Given the description of an element on the screen output the (x, y) to click on. 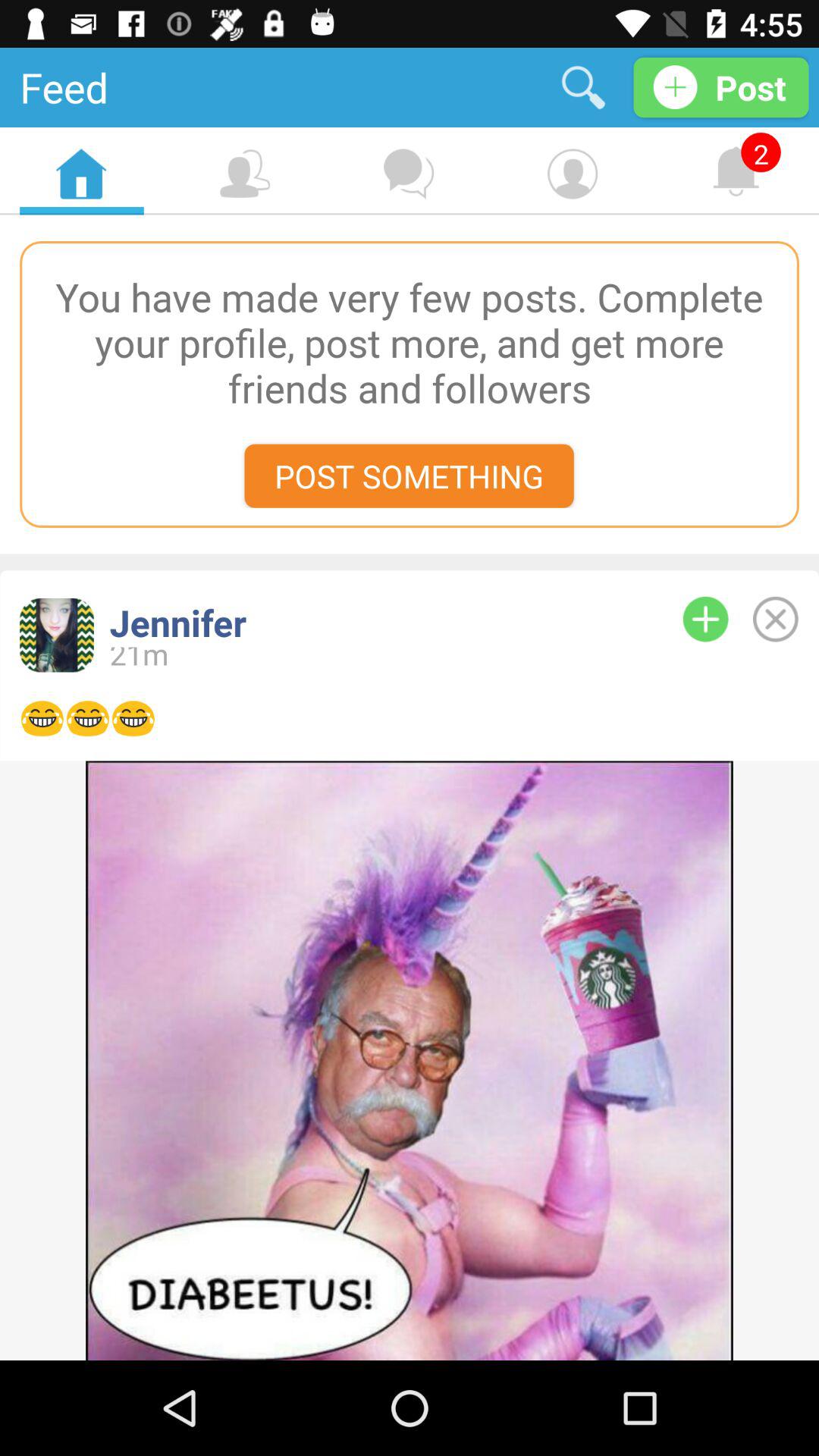
launch the icon below post something item (371, 622)
